Given the description of an element on the screen output the (x, y) to click on. 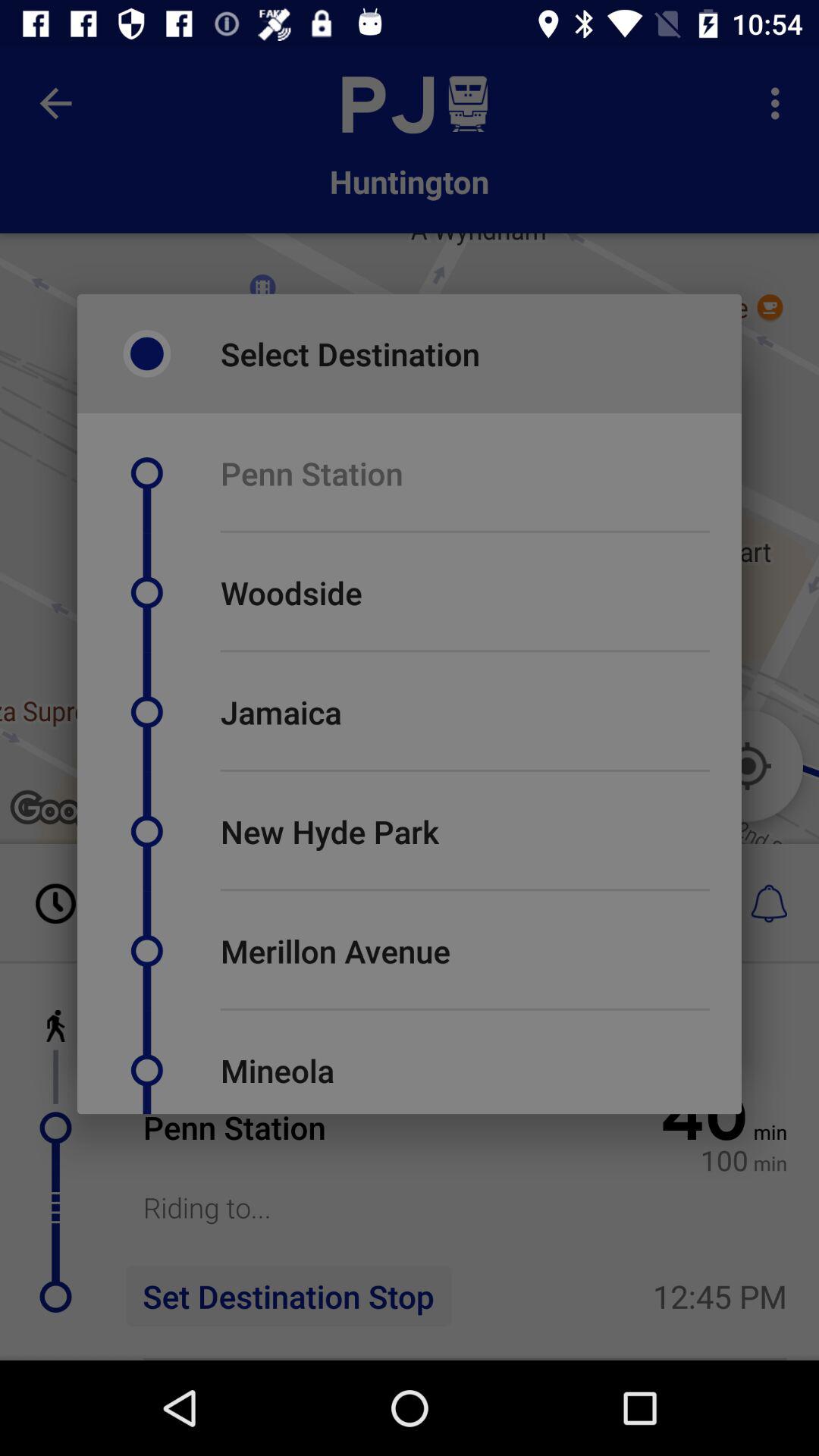
open icon below penn station icon (464, 531)
